Given the description of an element on the screen output the (x, y) to click on. 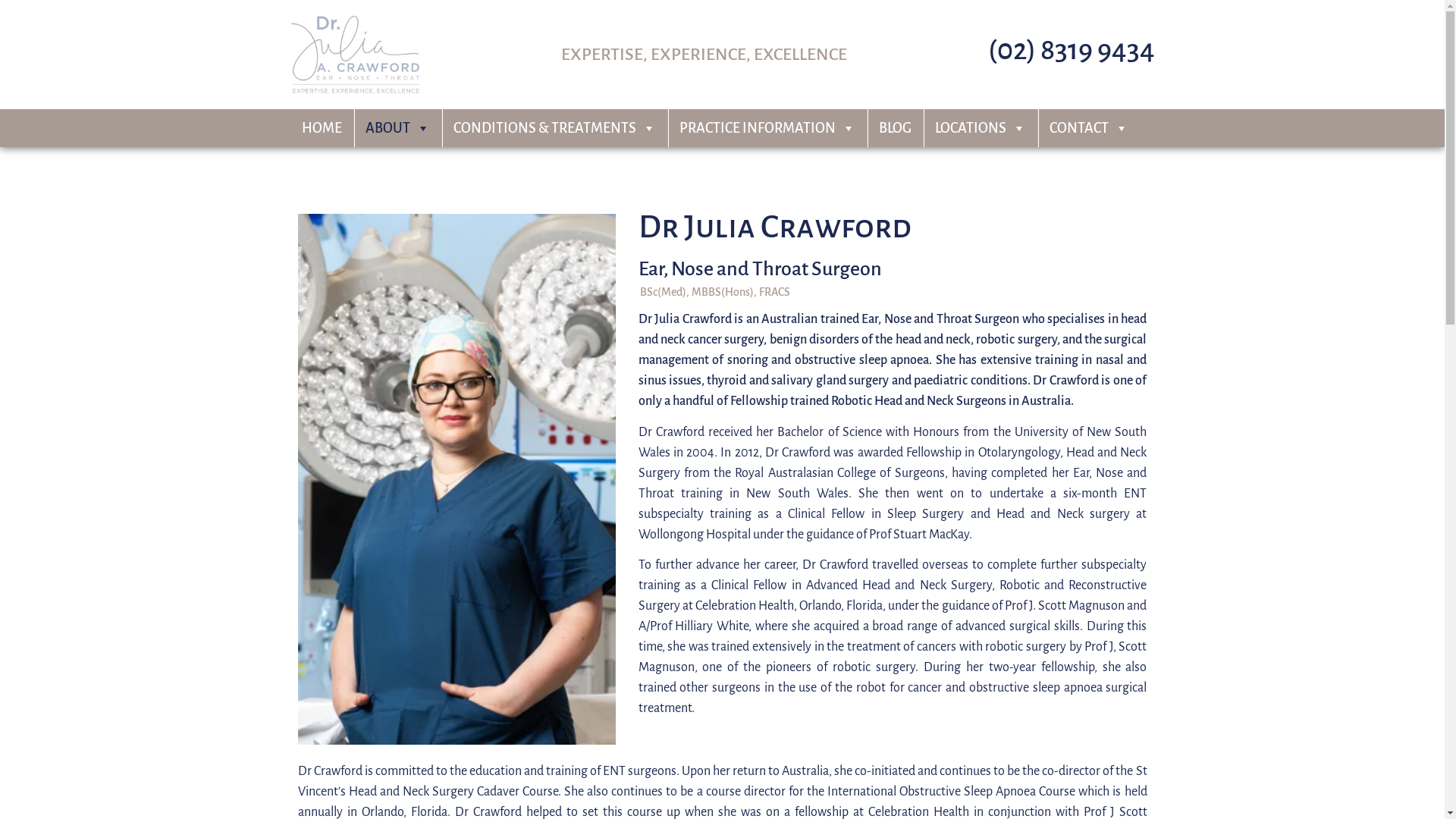
BLOG Element type: text (894, 128)
CONDITIONS & TREATMENTS Element type: text (553, 128)
PRACTICE INFORMATION Element type: text (766, 128)
EXPERTISE, EXPERIENCE, EXCELLENCE Element type: text (704, 54)
CONTACT Element type: text (1088, 128)
LOCATIONS Element type: text (980, 128)
ABOUT Element type: text (396, 128)
(02) 8319 9434 Element type: text (1070, 49)
HOME Element type: text (320, 128)
